Given the description of an element on the screen output the (x, y) to click on. 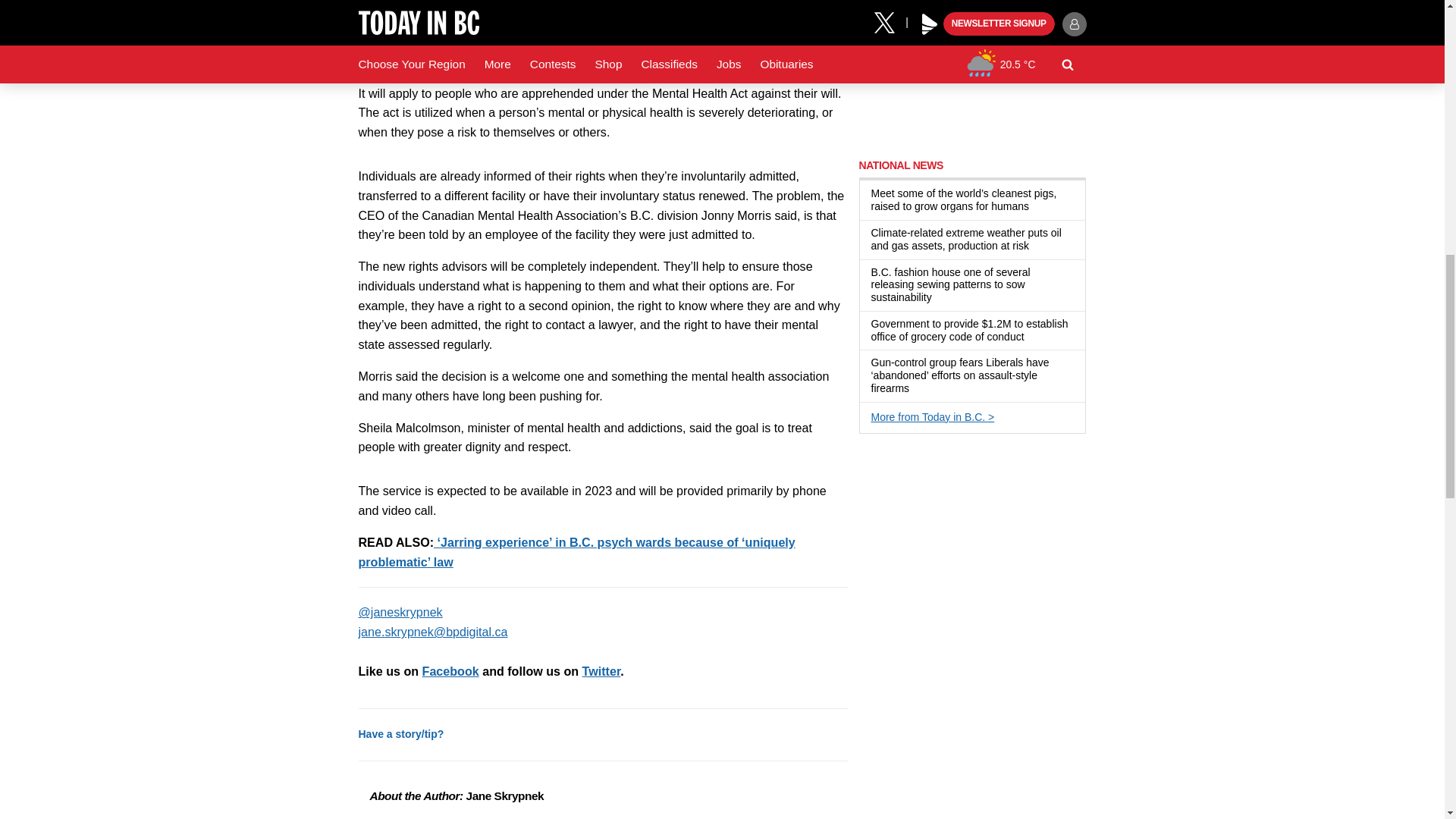
3rd party ad content (972, 543)
3rd party ad content (972, 71)
